Given the description of an element on the screen output the (x, y) to click on. 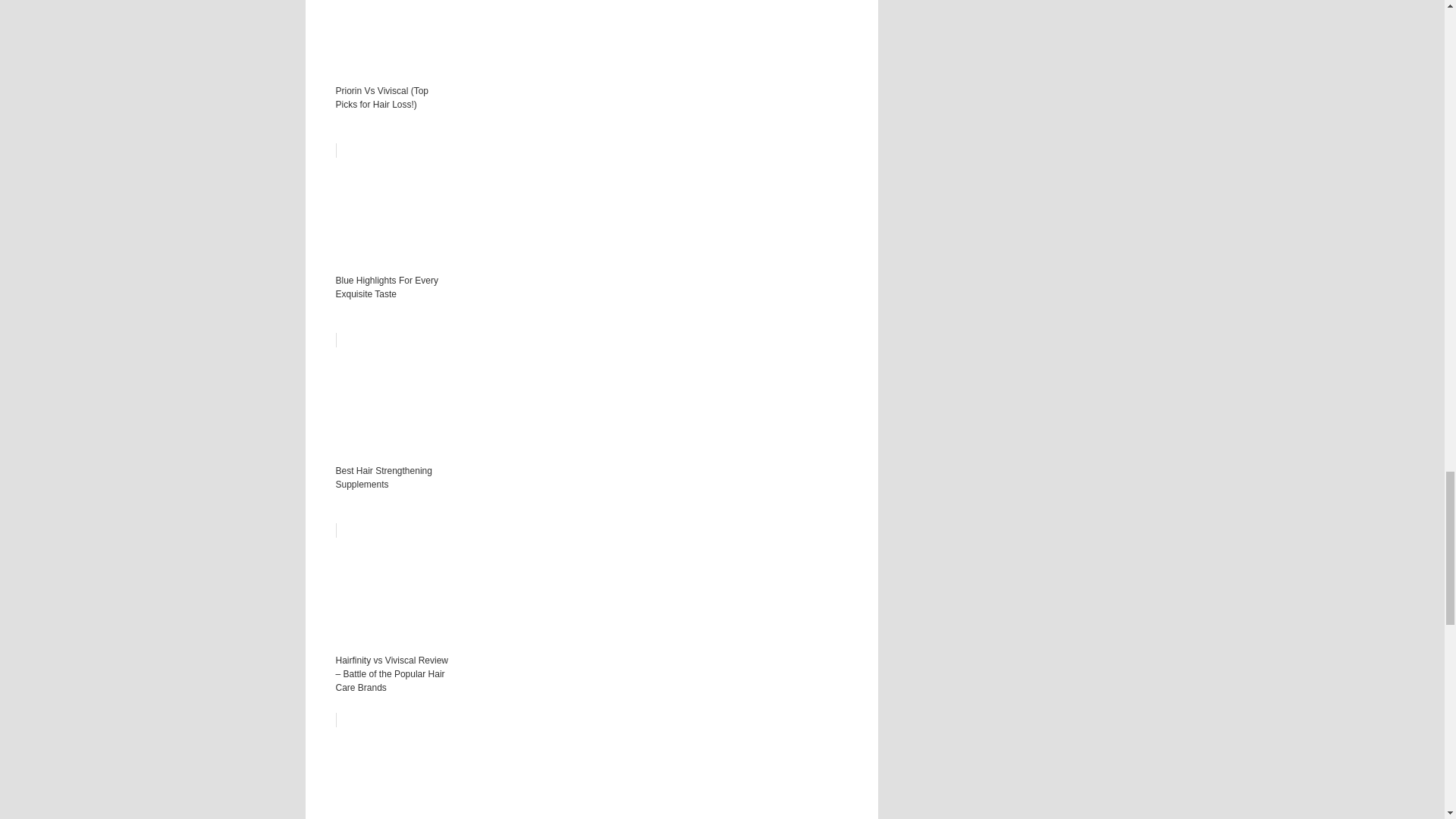
Best Hair Strengthening Supplements (590, 434)
Seven Natural Ways to Increase Hair Volume (590, 765)
Blue Highlights For Every Exquisite Taste (590, 245)
